Given the description of an element on the screen output the (x, y) to click on. 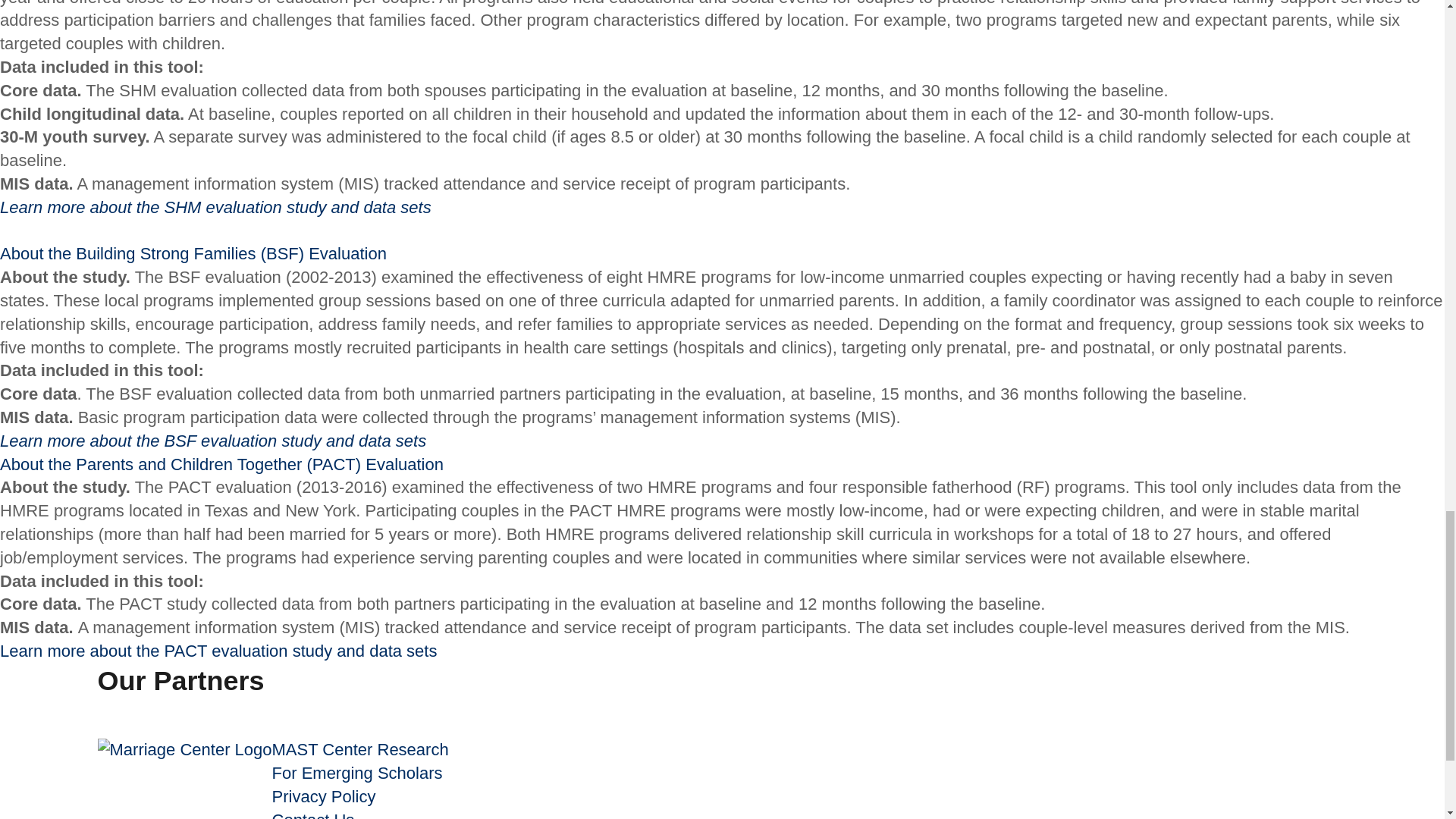
For Emerging Scholars (357, 772)
Learn more about the SHM evaluation study and data sets (215, 207)
MAST Center Research (360, 749)
Contact Us (313, 814)
Learn more about the PACT evaluation study and data sets (218, 650)
Privacy Policy (323, 796)
Learn more about the BSF evaluation study and data sets (213, 440)
